Given the description of an element on the screen output the (x, y) to click on. 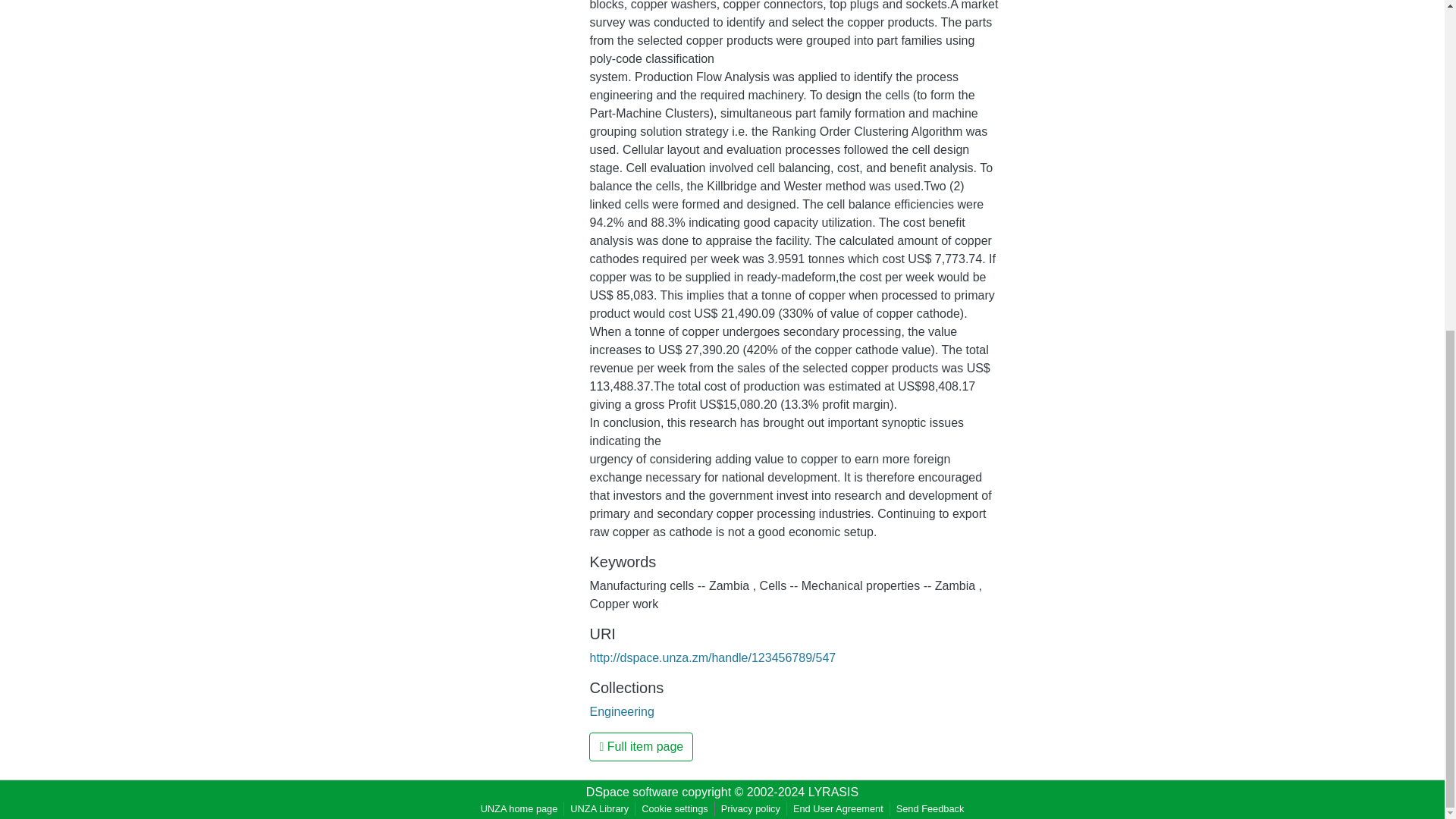
Cookie settings (674, 808)
End User Agreement (838, 808)
Send Feedback (930, 808)
Engineering (621, 711)
LYRASIS (833, 791)
UNZA Library (599, 808)
Privacy policy (750, 808)
DSpace software (632, 791)
UNZA home page (519, 808)
Full item page (641, 746)
